Given the description of an element on the screen output the (x, y) to click on. 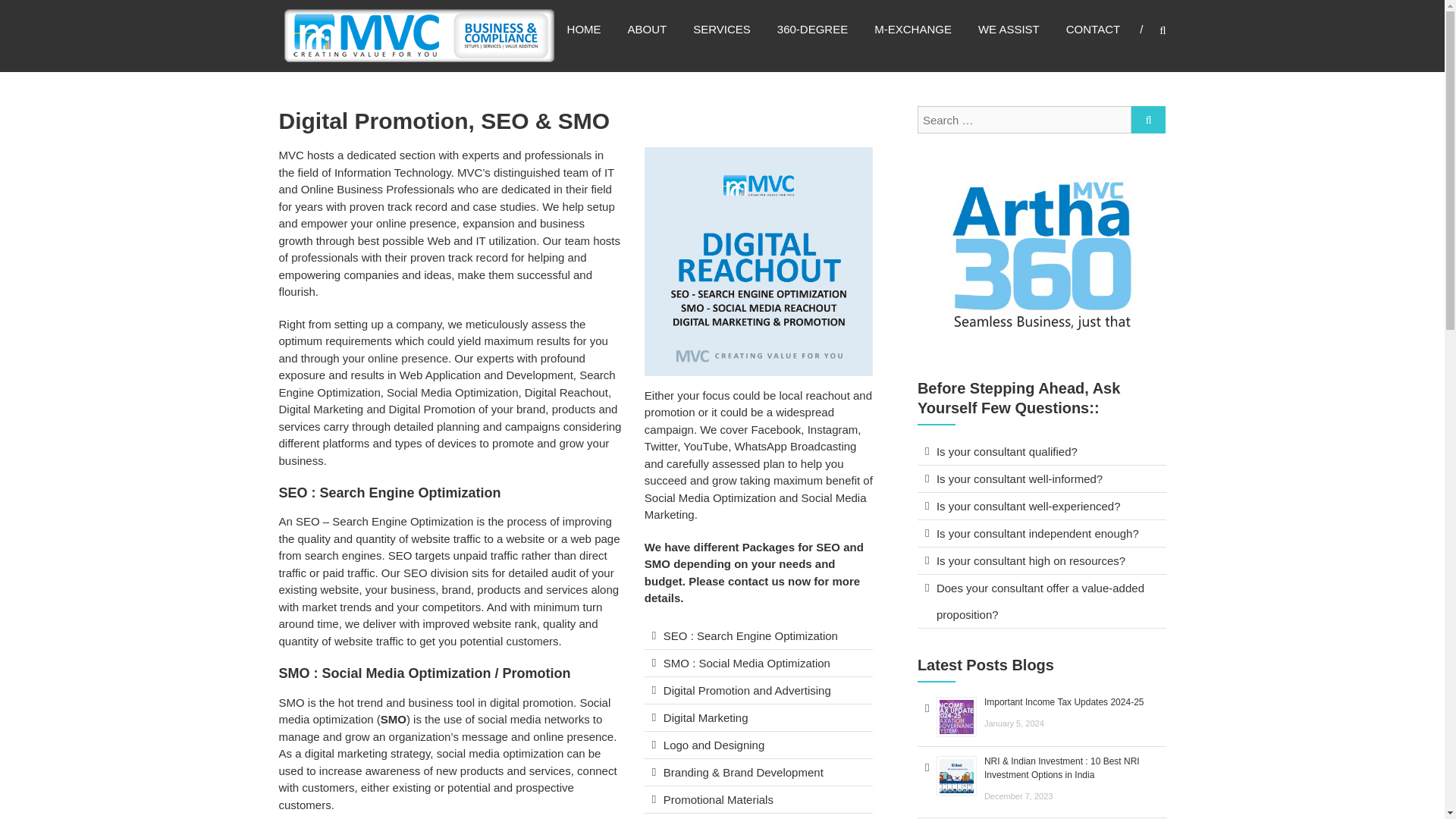
HOME (584, 29)
Search (1232, 409)
Permalink to Important Income Tax Updates 2024-25 (1064, 701)
Important Income Tax Updates 2024-25 (1064, 701)
CONTACT (1092, 29)
360-DEGREE (812, 29)
M-EXCHANGE (913, 29)
WE ASSIST (1008, 29)
ABOUT (646, 29)
Search (1148, 119)
SERVICES (722, 29)
